Given the description of an element on the screen output the (x, y) to click on. 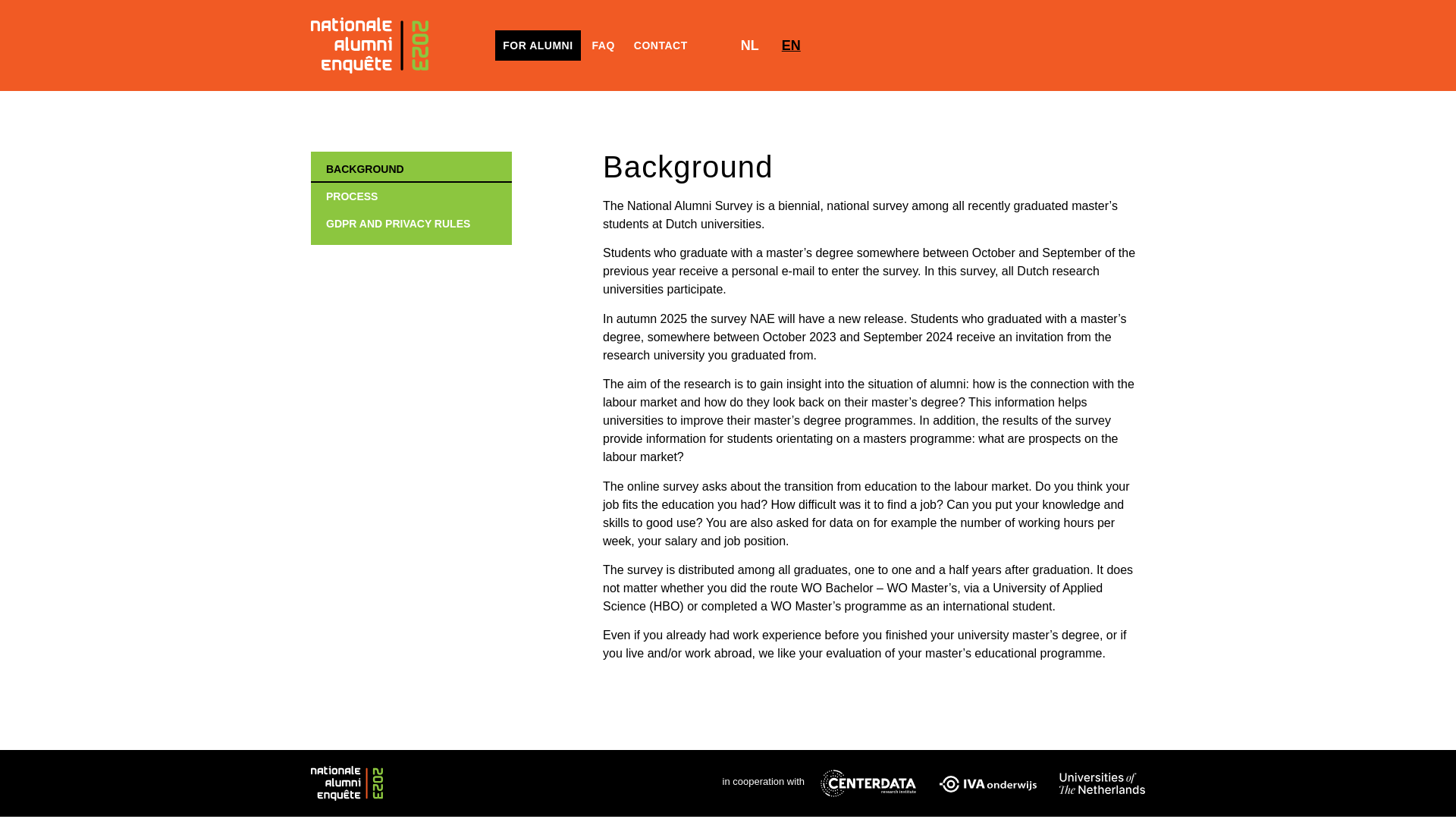
FAQ (604, 45)
PROCESS (411, 195)
FOR ALUMNI (537, 45)
CONTACT (660, 45)
EN (787, 45)
BACKGROUND (411, 168)
GDPR AND PRIVACY RULES (411, 223)
NL (745, 45)
